Given the description of an element on the screen output the (x, y) to click on. 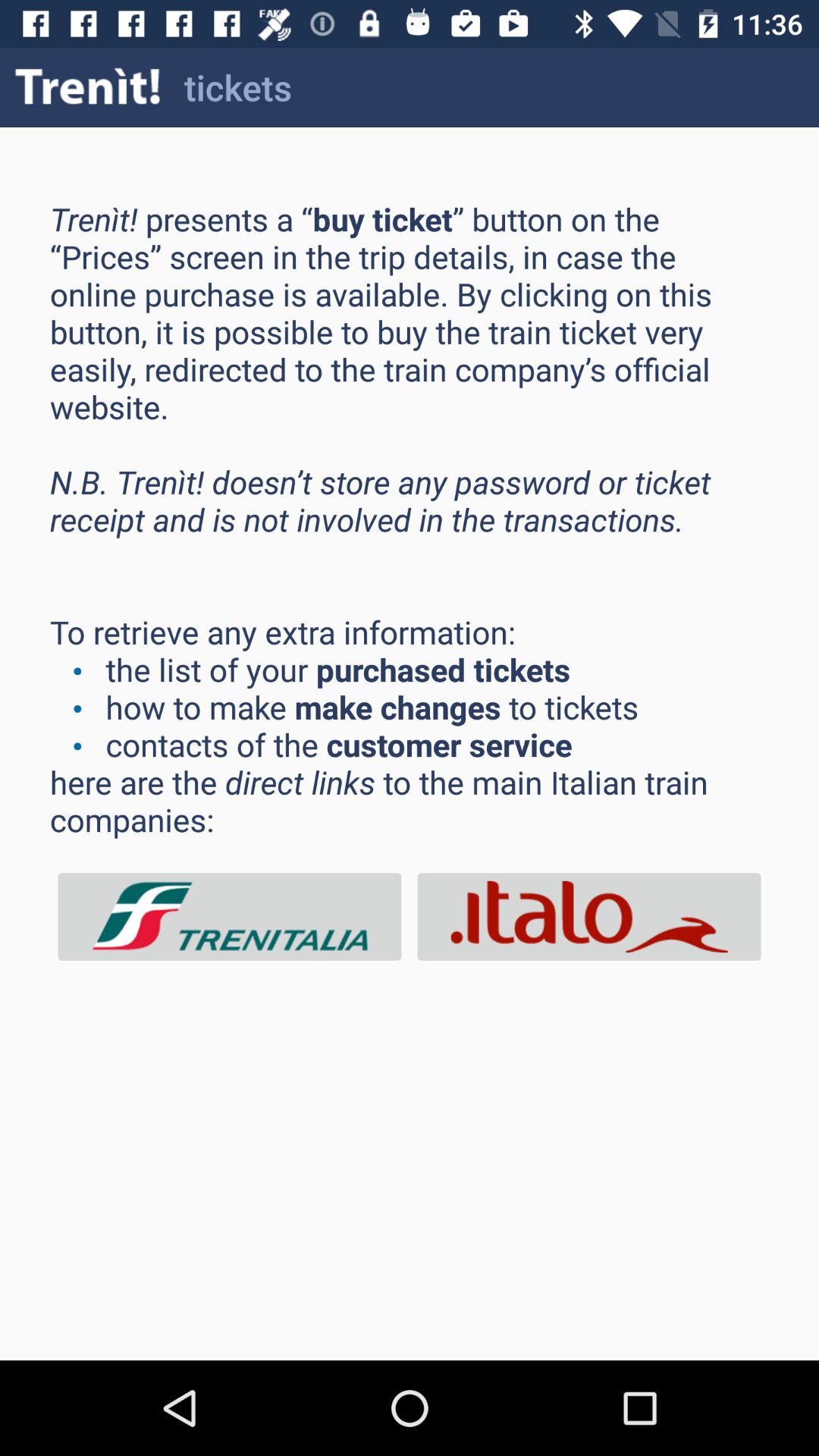
go to trenitalia website (229, 916)
